Given the description of an element on the screen output the (x, y) to click on. 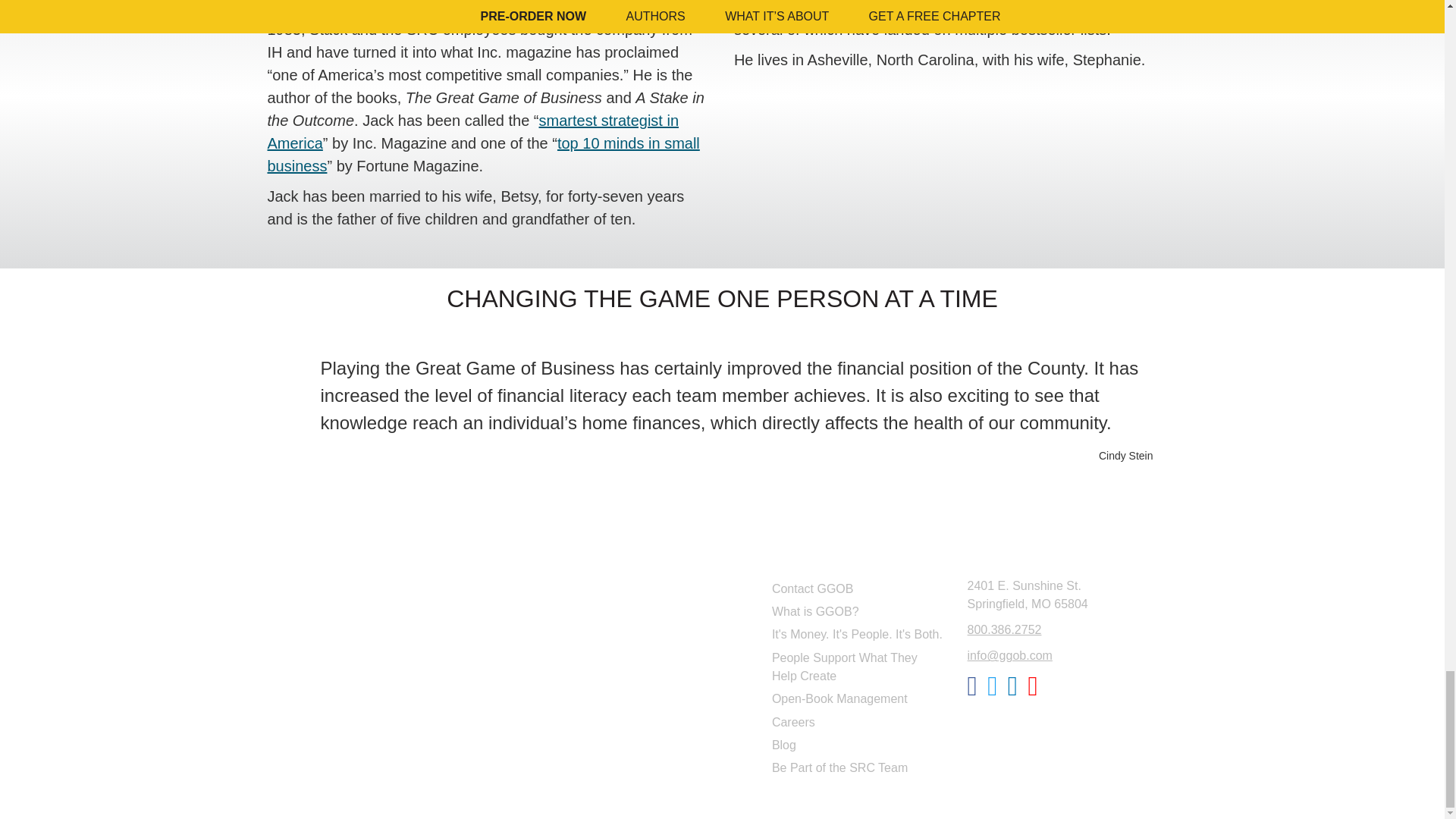
What is GGOB? (857, 611)
Be Part of the SRC Team (857, 767)
top 10 minds in small business (482, 154)
Open-Book Management (857, 698)
It's Money. It's People. It's Both. (857, 634)
800.386.2752 (1005, 629)
